Given the description of an element on the screen output the (x, y) to click on. 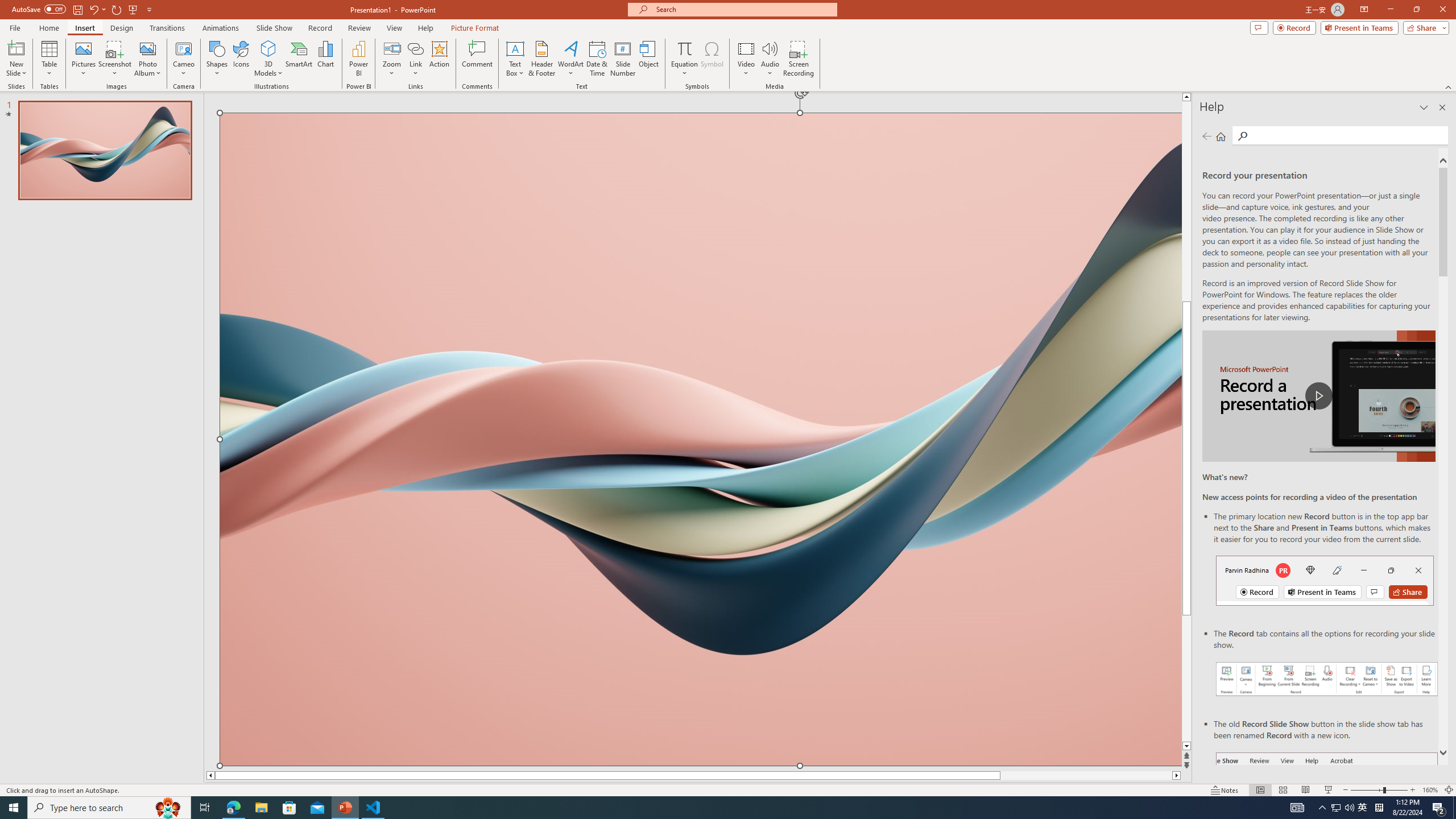
Table (49, 58)
Slide Number (622, 58)
Icons (240, 58)
